Given the description of an element on the screen output the (x, y) to click on. 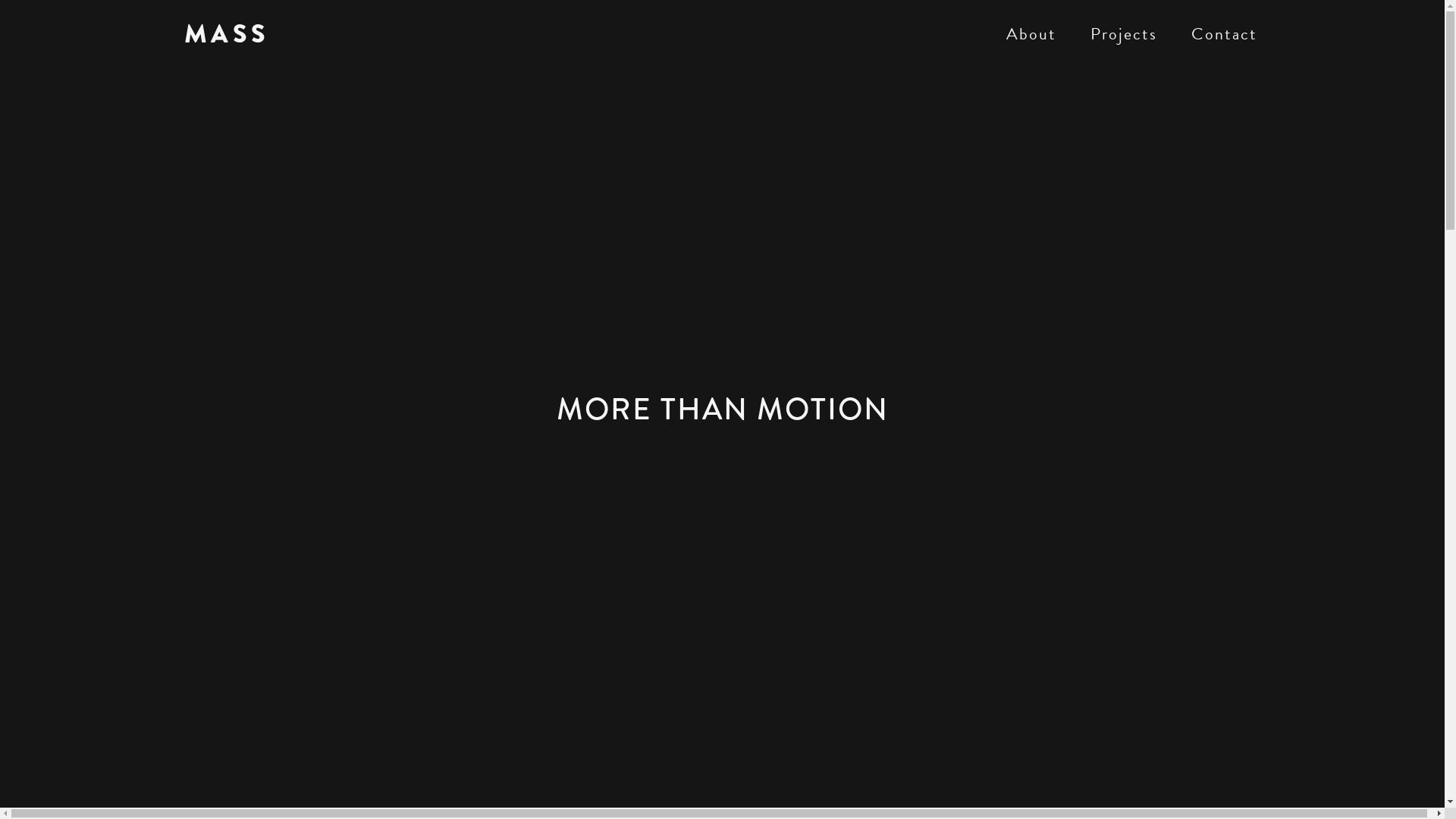
MASS Element type: text (226, 34)
Projects Element type: text (1123, 34)
Contact Element type: text (1223, 34)
About Element type: text (1030, 34)
